Given the description of an element on the screen output the (x, y) to click on. 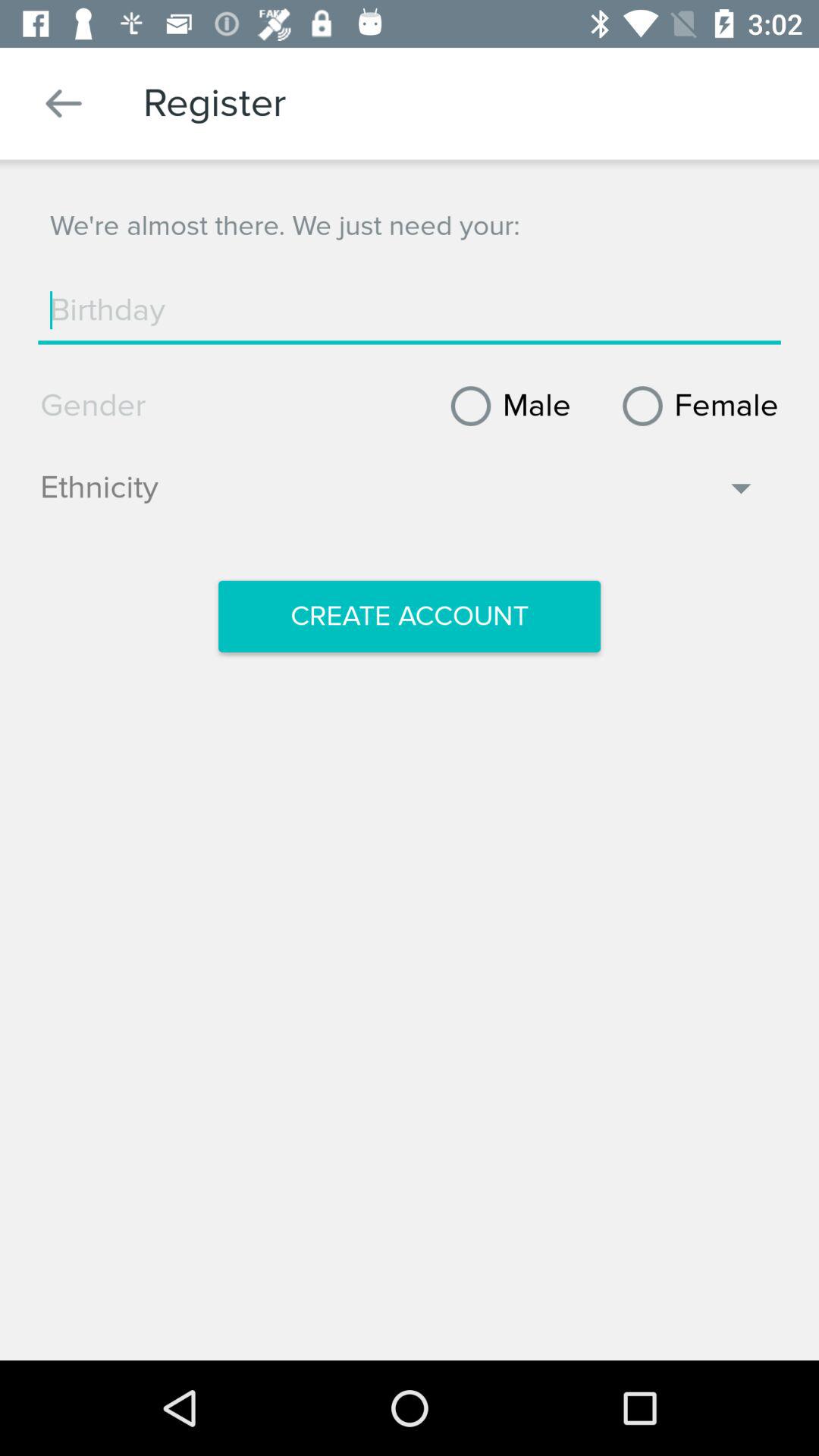
enter birthday (409, 310)
